Given the description of an element on the screen output the (x, y) to click on. 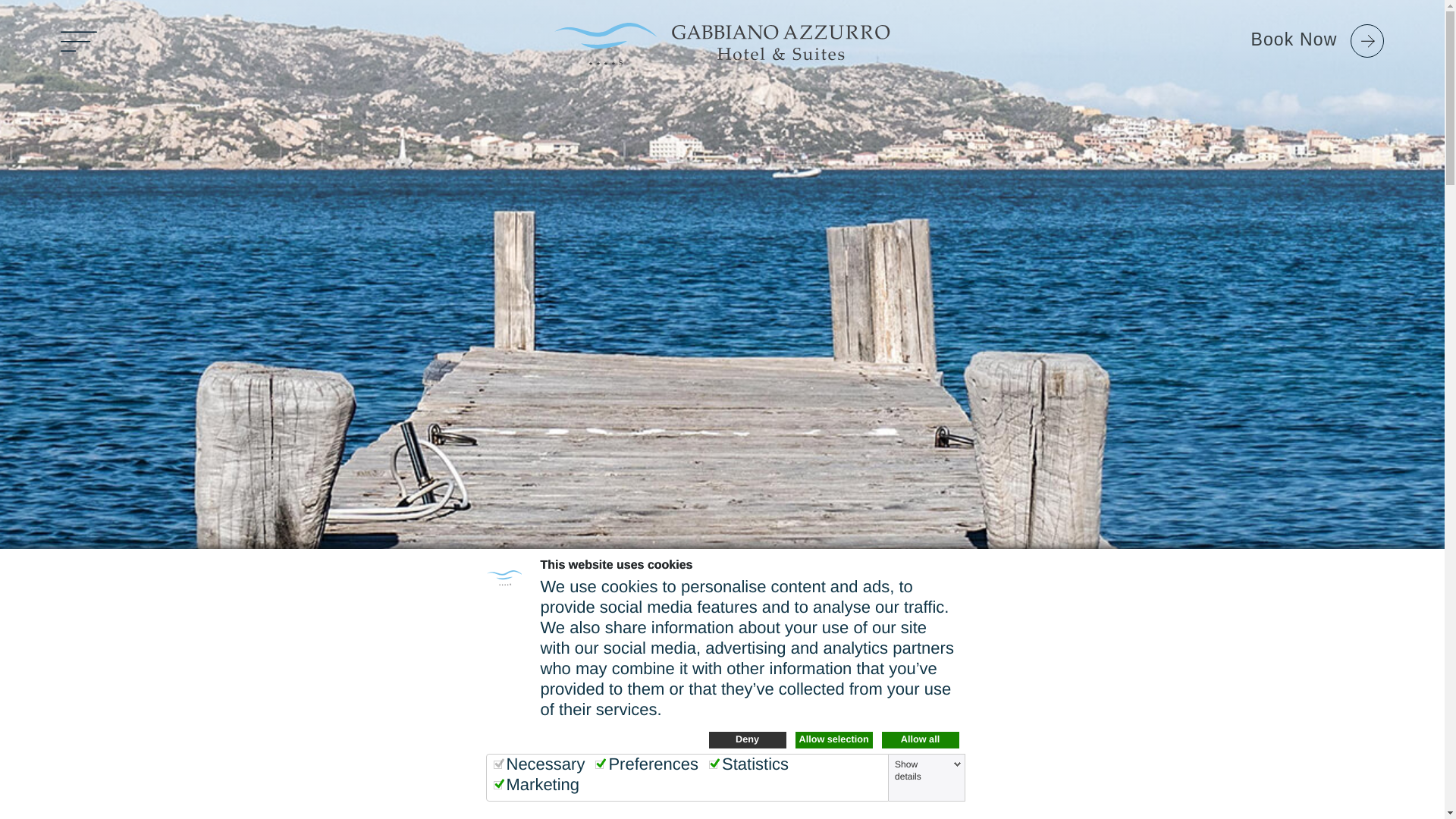
Allow selection (833, 740)
Deny (746, 740)
Show details (927, 770)
Allow all (919, 740)
